Given the description of an element on the screen output the (x, y) to click on. 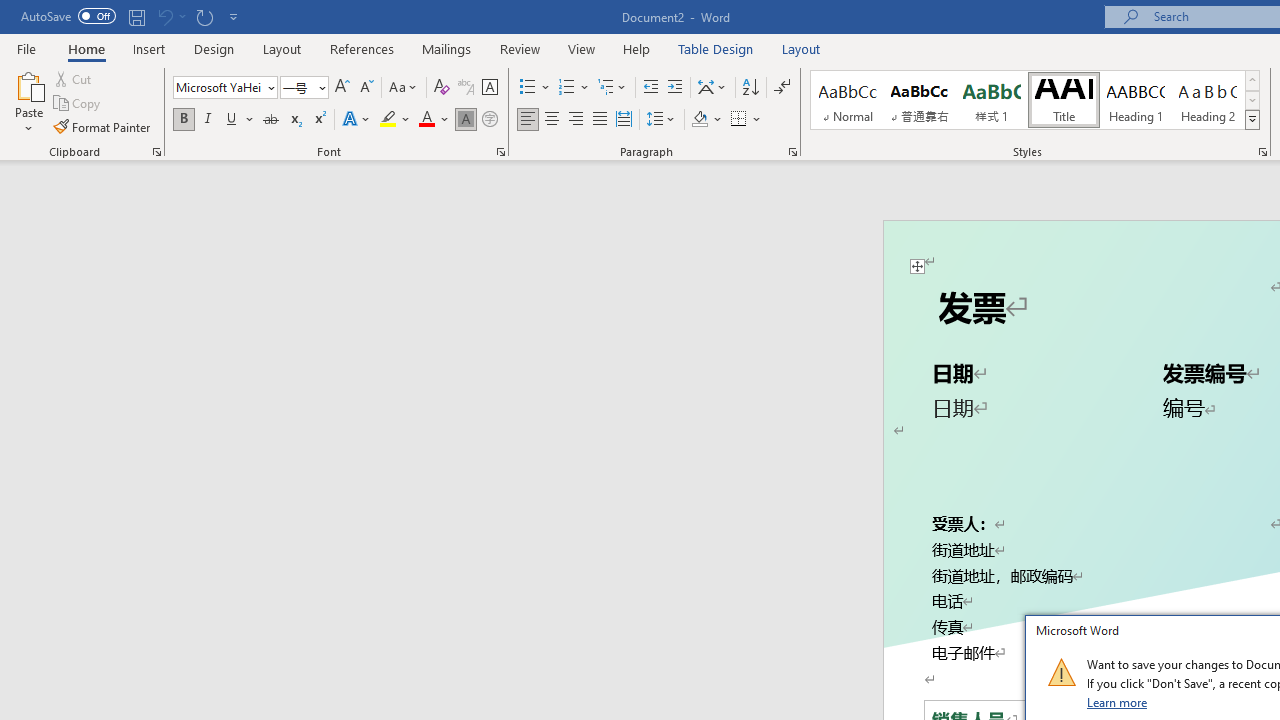
Underline (239, 119)
Multilevel List (613, 87)
Character Shading (465, 119)
Clear Formatting (442, 87)
Shading (706, 119)
Align Left (527, 119)
Superscript (319, 119)
Text Highlight Color (395, 119)
Open (320, 87)
Can't Undo (164, 15)
References (362, 48)
Increase Indent (675, 87)
Text Effects and Typography (357, 119)
Font... (500, 151)
